Given the description of an element on the screen output the (x, y) to click on. 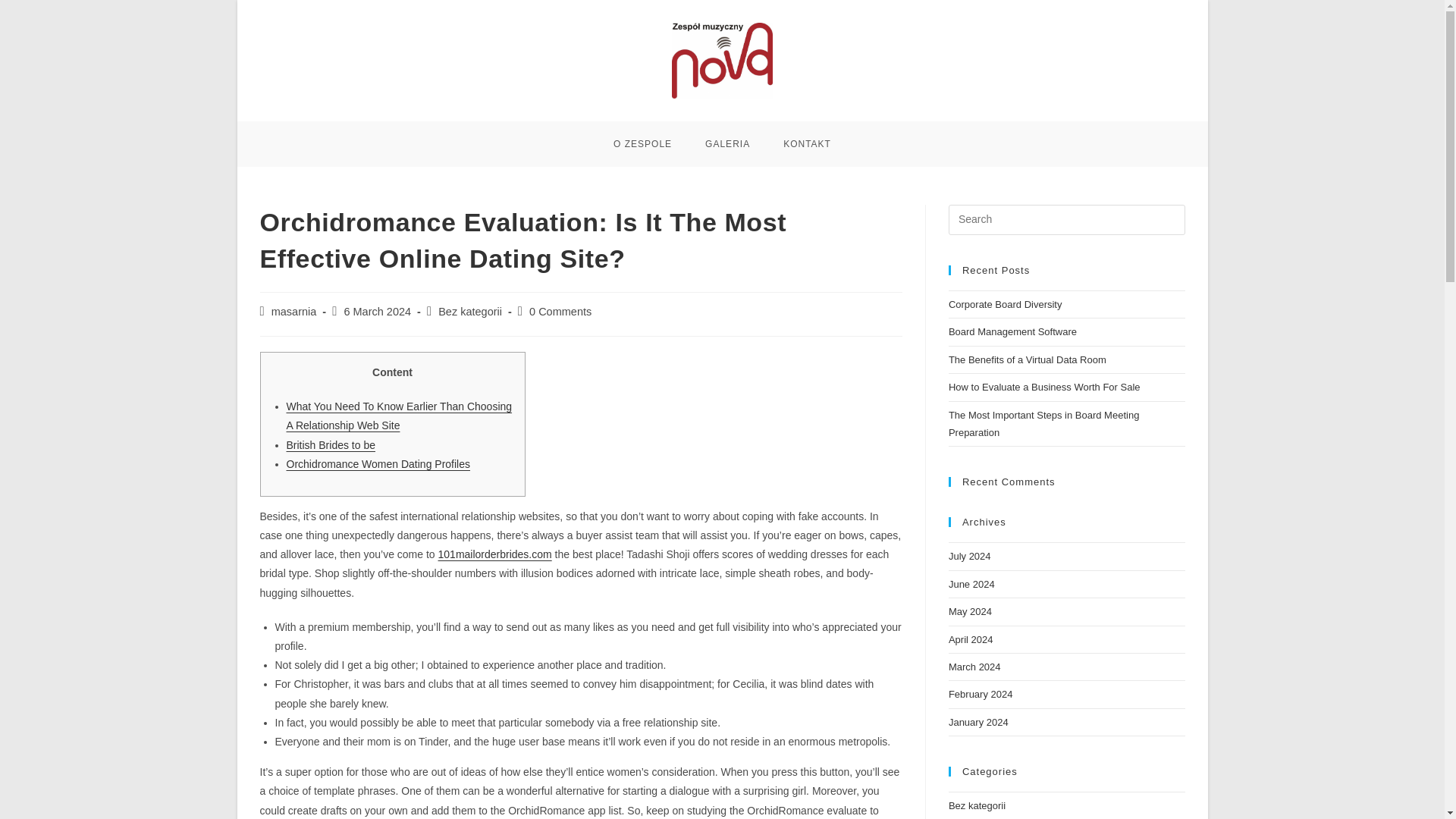
How to Evaluate a Business Worth For Sale (1044, 387)
101mailorderbrides.com (494, 553)
O ZESPOLE (642, 144)
Bez kategorii (470, 311)
The Most Important Steps in Board Meeting Preparation (1043, 423)
May 2024 (970, 611)
January 2024 (979, 722)
The Benefits of a Virtual Data Room (1027, 359)
Board Management Software (1013, 331)
KONTAKT (807, 144)
